Given the description of an element on the screen output the (x, y) to click on. 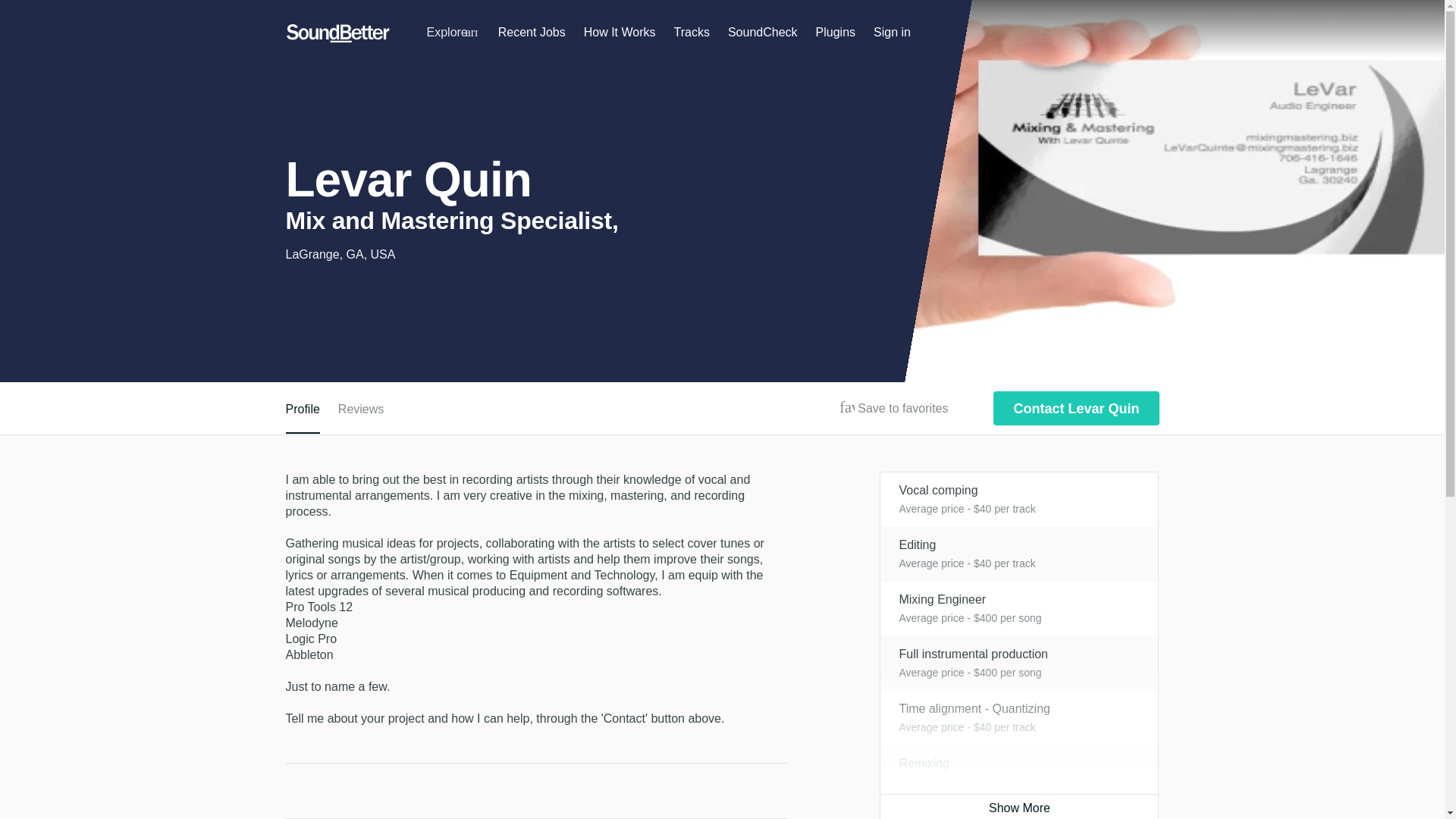
SoundBetter (337, 33)
